Given the description of an element on the screen output the (x, y) to click on. 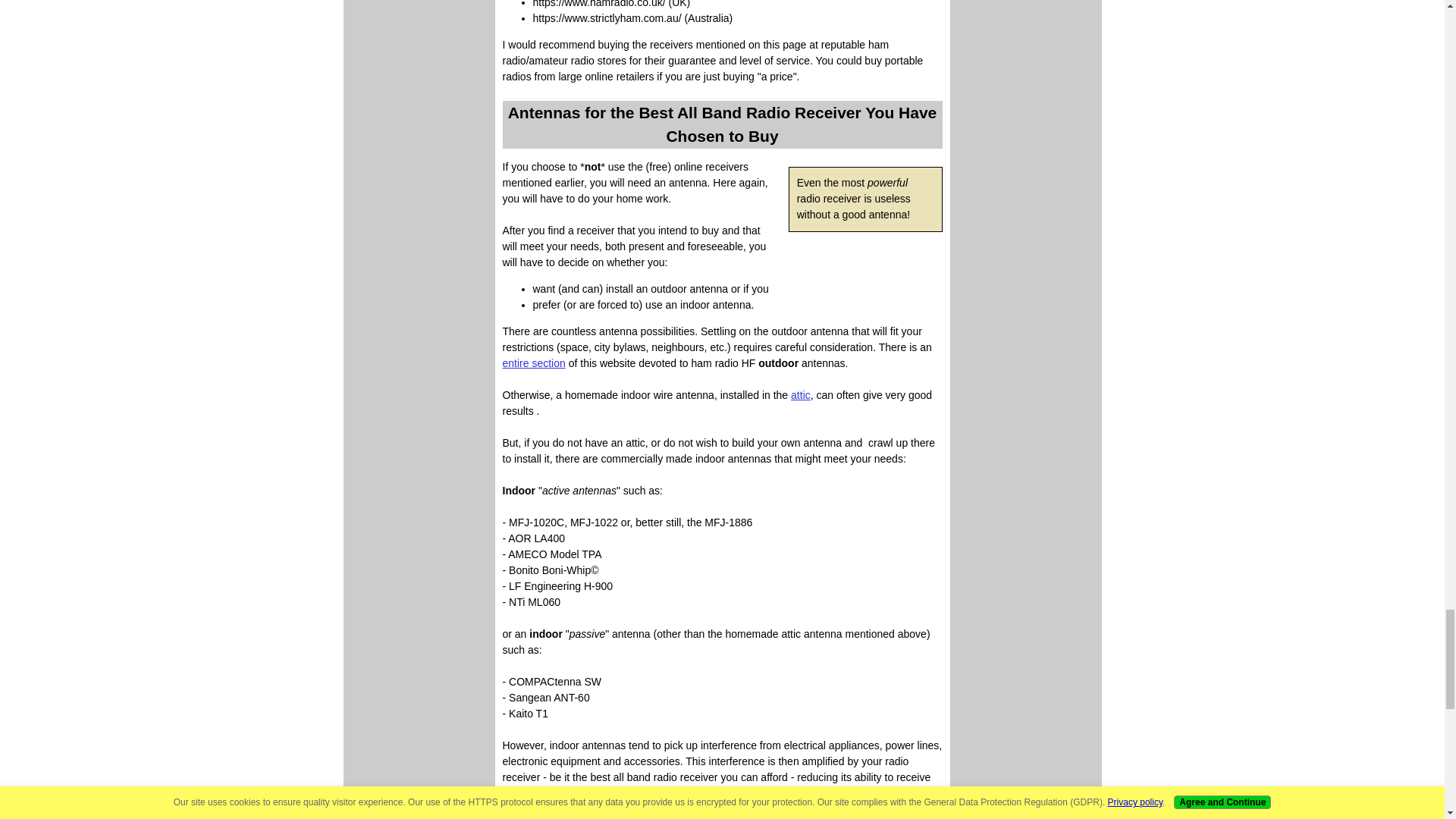
attic (800, 395)
entire section (533, 363)
